Given the description of an element on the screen output the (x, y) to click on. 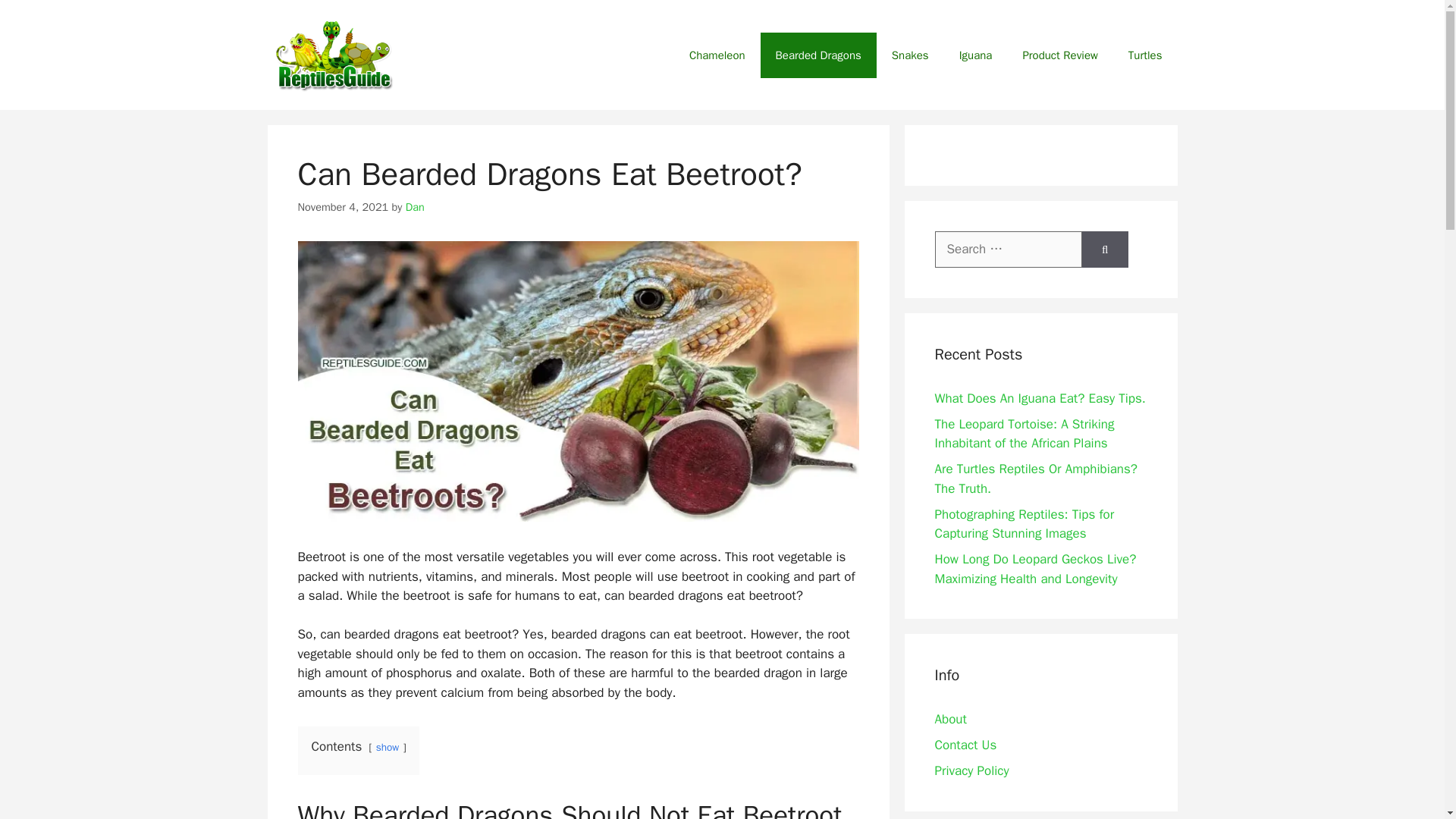
show (386, 747)
Bearded Dragons (818, 54)
Iguana (975, 54)
Photographing Reptiles: Tips for Capturing Stunning Images (1023, 524)
What Does An Iguana Eat? Easy Tips. (1039, 398)
Chameleon (717, 54)
View all posts by Dan (415, 206)
Contact Us (964, 744)
Dan (415, 206)
Privacy Policy (971, 770)
Search for: (1007, 248)
Turtles (1145, 54)
About (950, 719)
Snakes (909, 54)
